Given the description of an element on the screen output the (x, y) to click on. 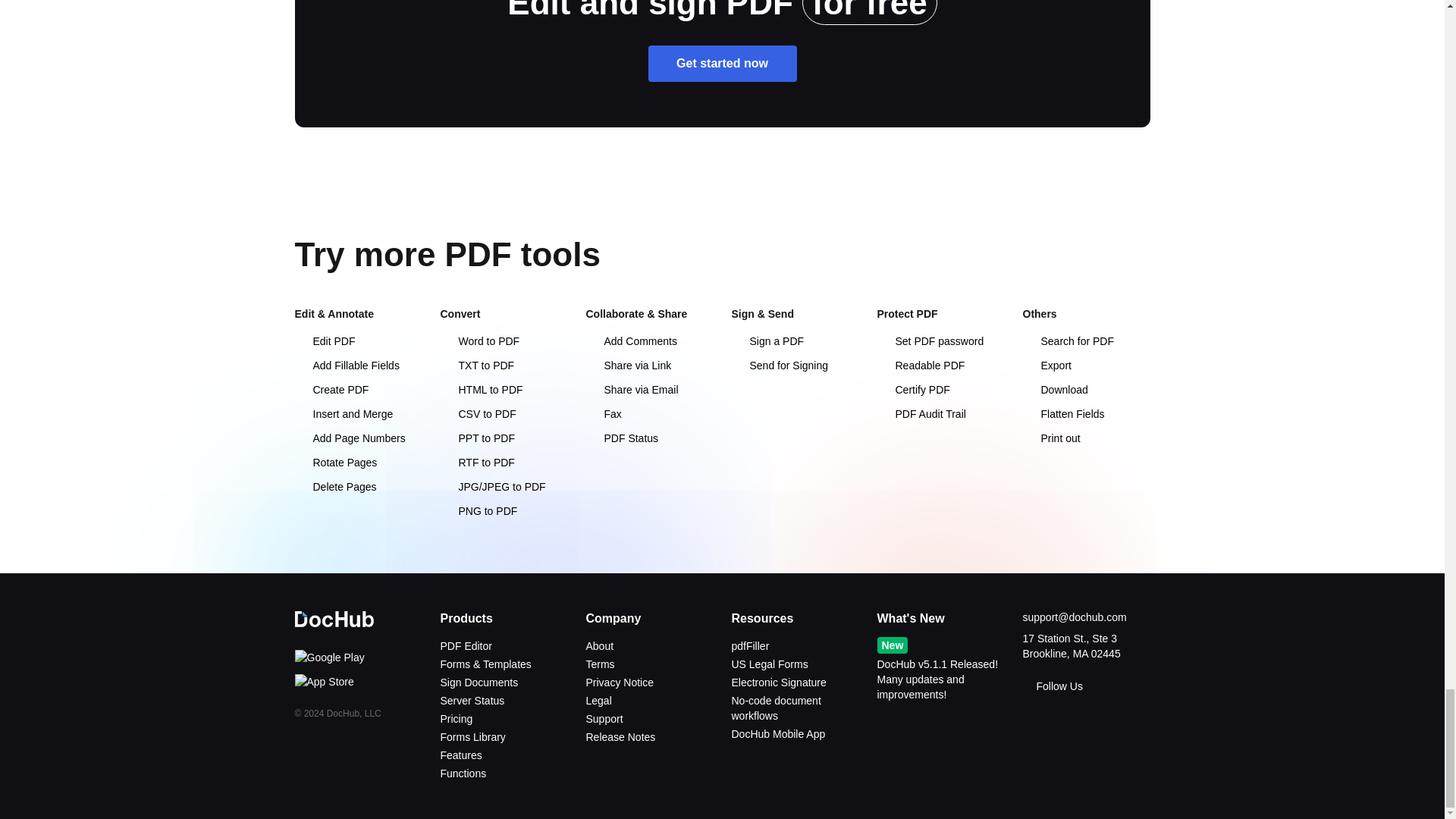
PDF Status (621, 438)
HTML to PDF (480, 389)
Share via Email (631, 389)
Share via Link (628, 365)
PNG to PDF (477, 510)
RTF to PDF (476, 462)
TXT to PDF (476, 365)
Delete Pages (334, 486)
Create PDF (331, 389)
Add Page Numbers (349, 438)
